Given the description of an element on the screen output the (x, y) to click on. 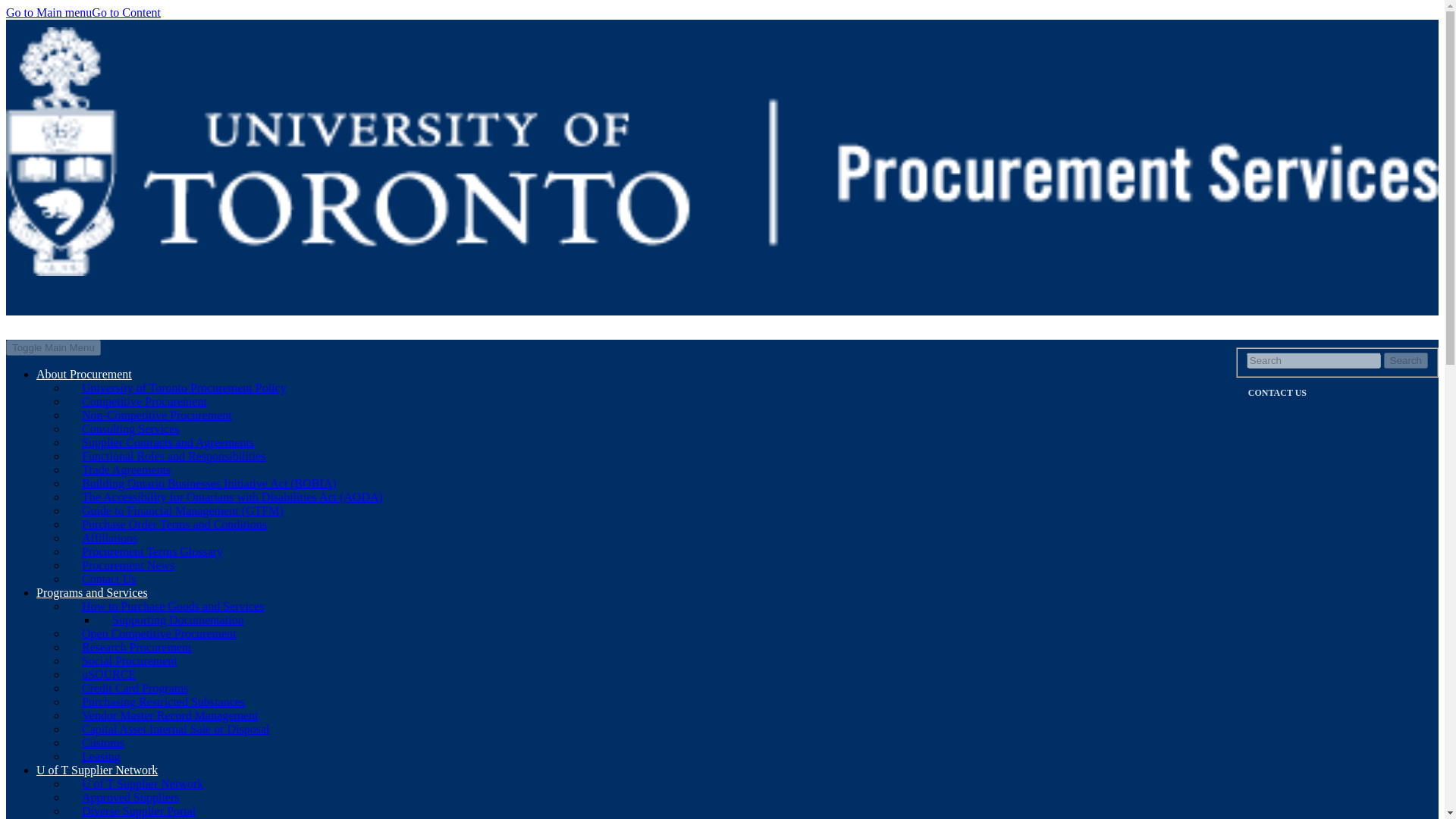
uSOURCE (108, 674)
U of T Supplier Network (96, 769)
Purchasing Restricted Substances (163, 701)
Affiliations (109, 537)
Procurement Terms Glossary (152, 551)
Supplier Contracts and Agreements (167, 442)
Customs (102, 742)
Purchase Order Terms and Conditions (174, 524)
Procurement News (127, 565)
Affiliations (109, 537)
Leasing (100, 756)
Contact Us (108, 578)
Go to Content (125, 11)
Trade Agreements (126, 469)
Supplier Contracts and Agreements (167, 442)
